Given the description of an element on the screen output the (x, y) to click on. 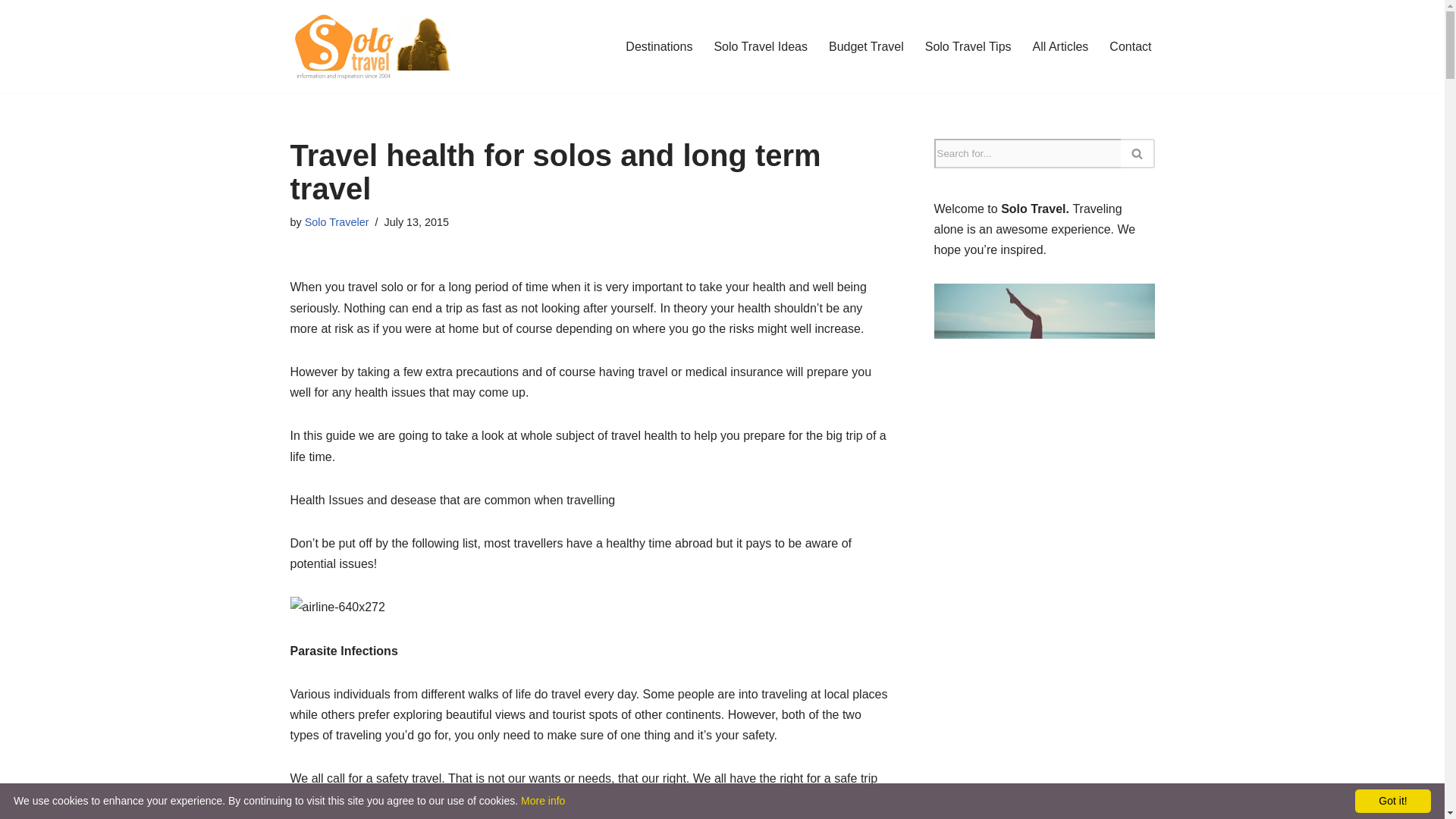
Solo Travel Ideas (760, 46)
All Articles (1060, 46)
Posts by Solo Traveler (336, 222)
Destinations (659, 46)
Contact (1130, 46)
Solo Traveler (336, 222)
Budget Travel (866, 46)
Solo Travel Tips (967, 46)
Skip to content (11, 31)
